Given the description of an element on the screen output the (x, y) to click on. 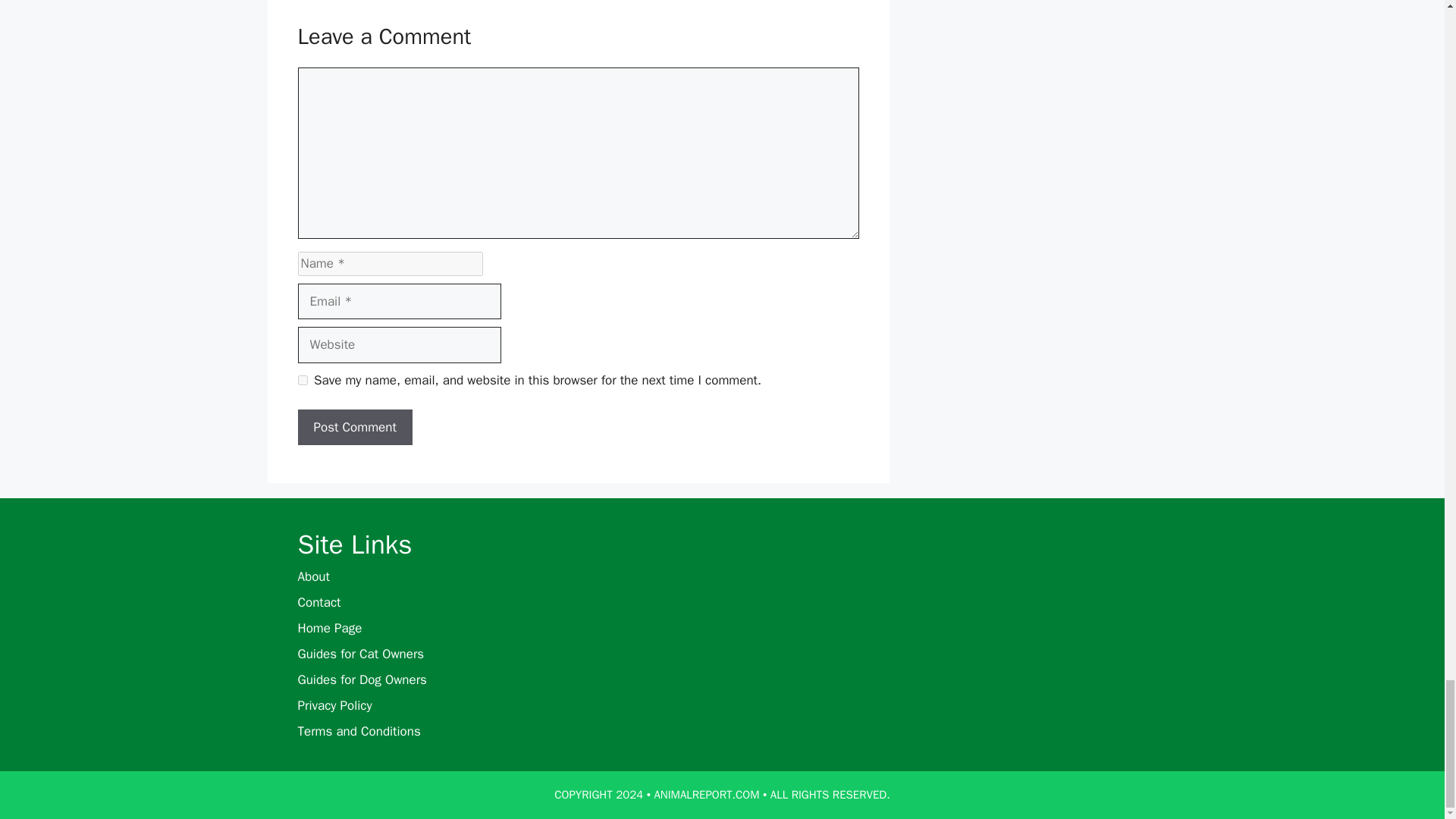
yes (302, 379)
Post Comment (354, 427)
